Given the description of an element on the screen output the (x, y) to click on. 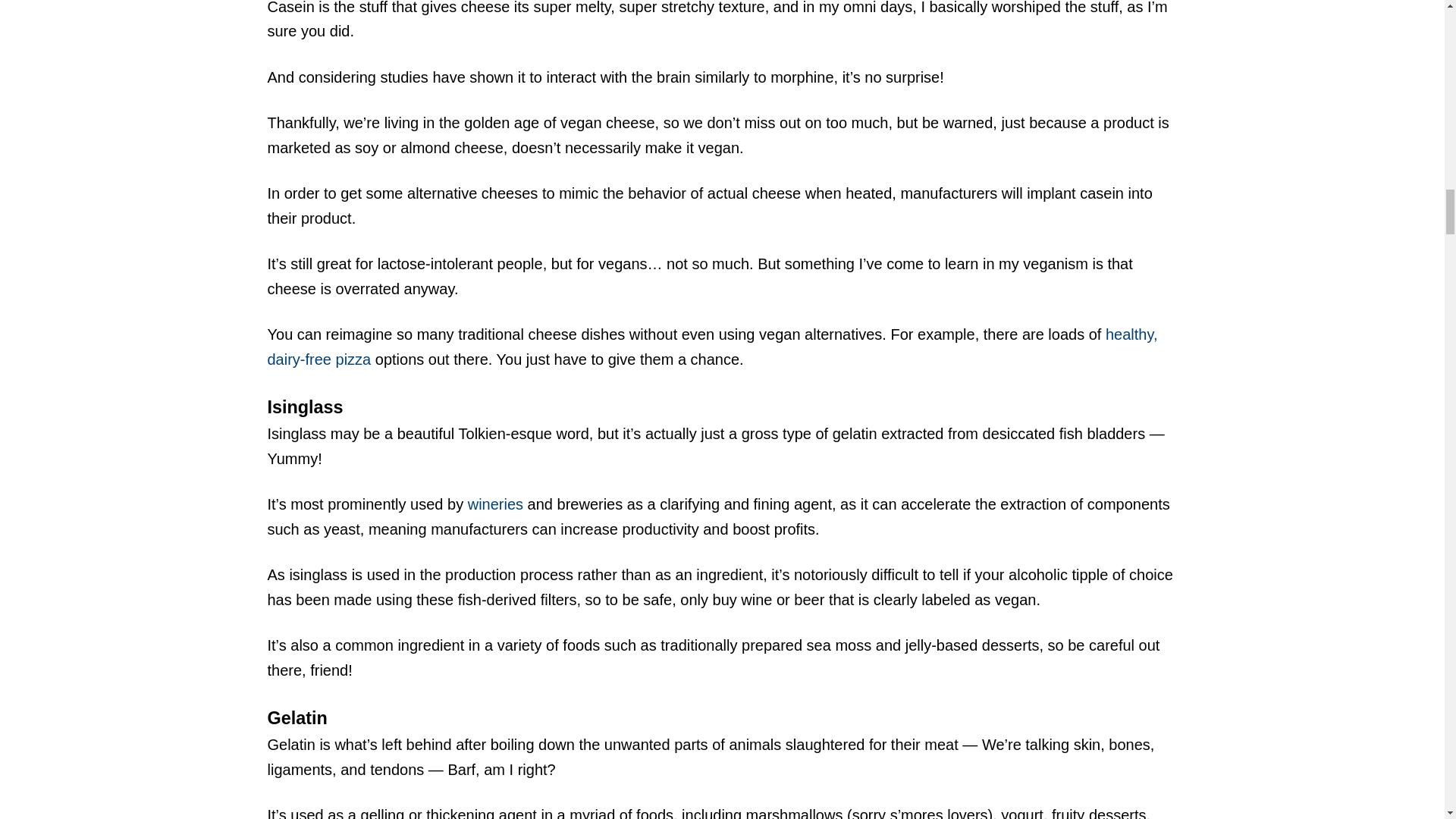
healthy, dairy-free pizza (711, 346)
